Given the description of an element on the screen output the (x, y) to click on. 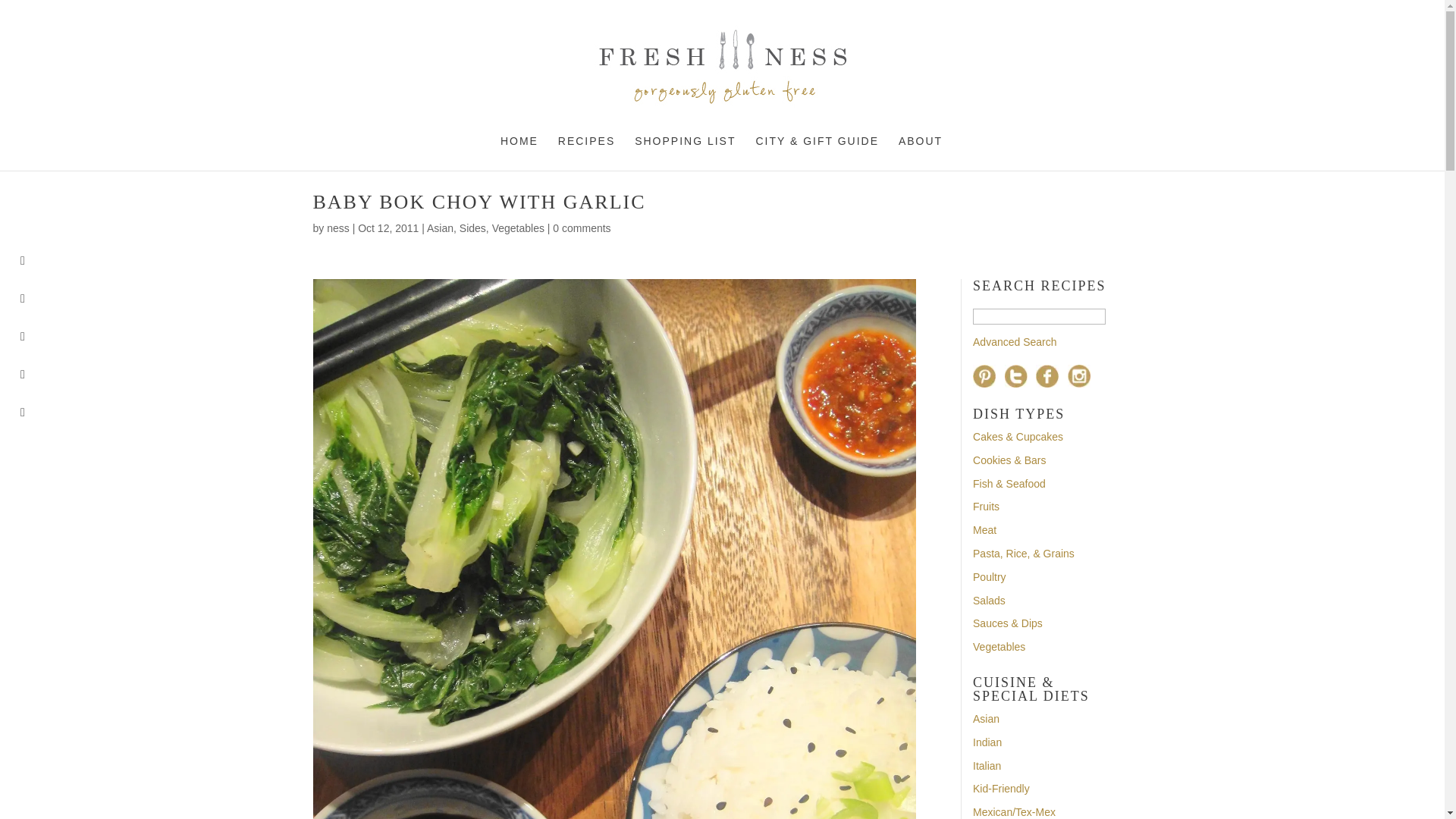
Salads (989, 600)
0 comments (581, 227)
Asian (439, 227)
Asian (985, 718)
Sides (473, 227)
Vegetables (518, 227)
Kid-Friendly (1000, 788)
Instagram (1078, 375)
Poultry (989, 576)
